Given the description of an element on the screen output the (x, y) to click on. 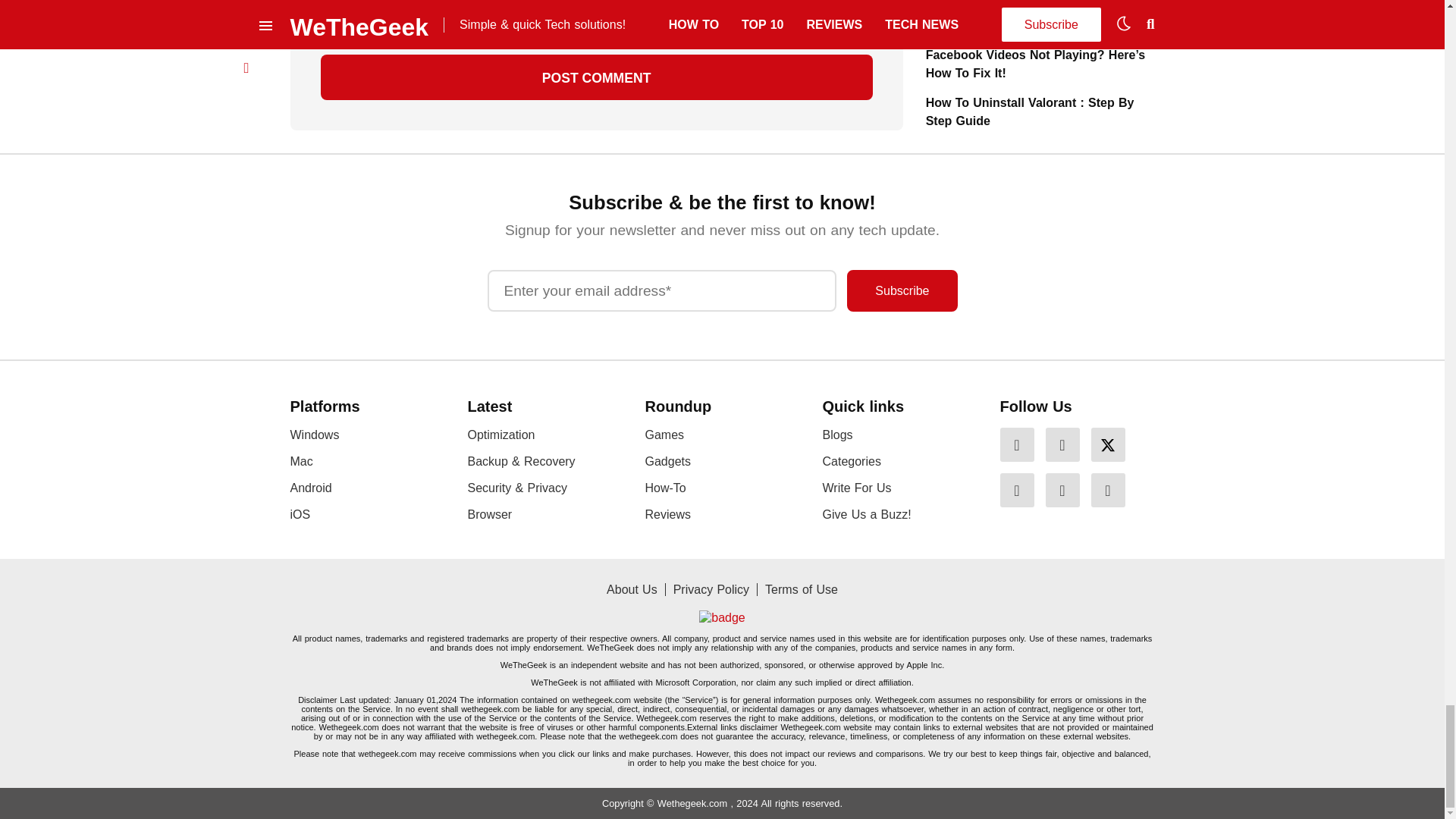
Post Comment (596, 76)
yes (325, 21)
Subscribe (901, 291)
